Given the description of an element on the screen output the (x, y) to click on. 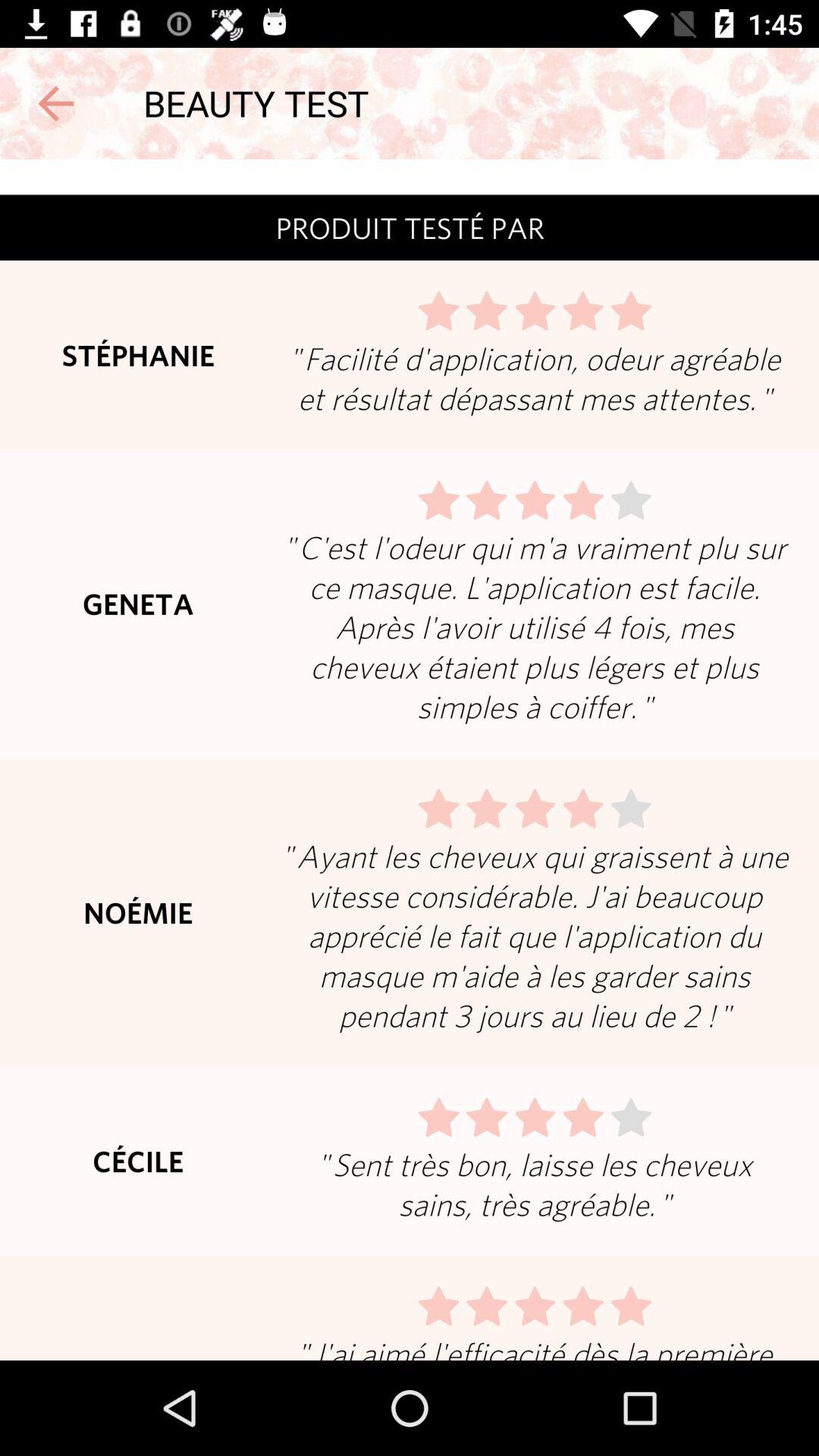
go back (55, 103)
